Given the description of an element on the screen output the (x, y) to click on. 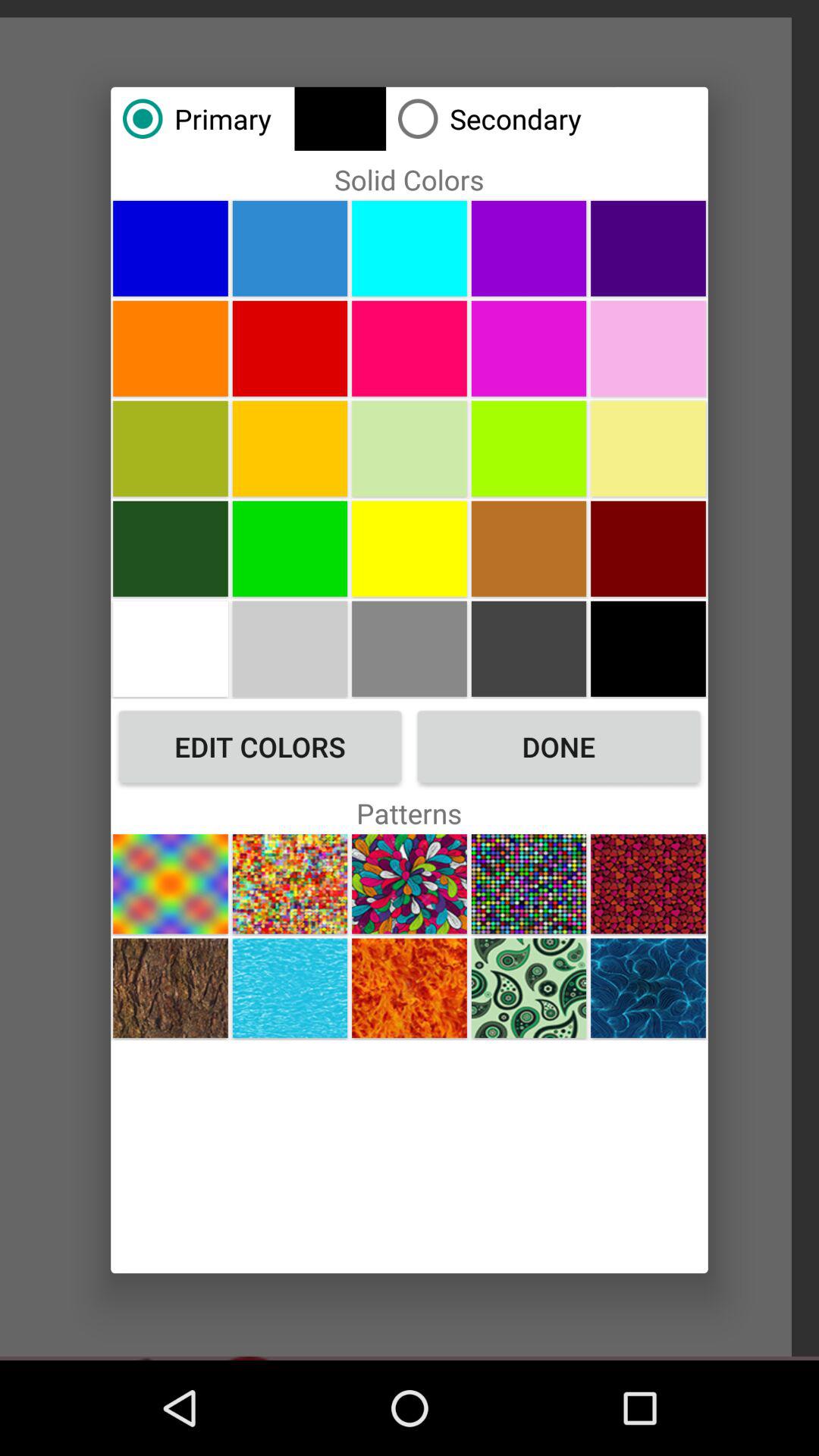
choose color (289, 648)
